Given the description of an element on the screen output the (x, y) to click on. 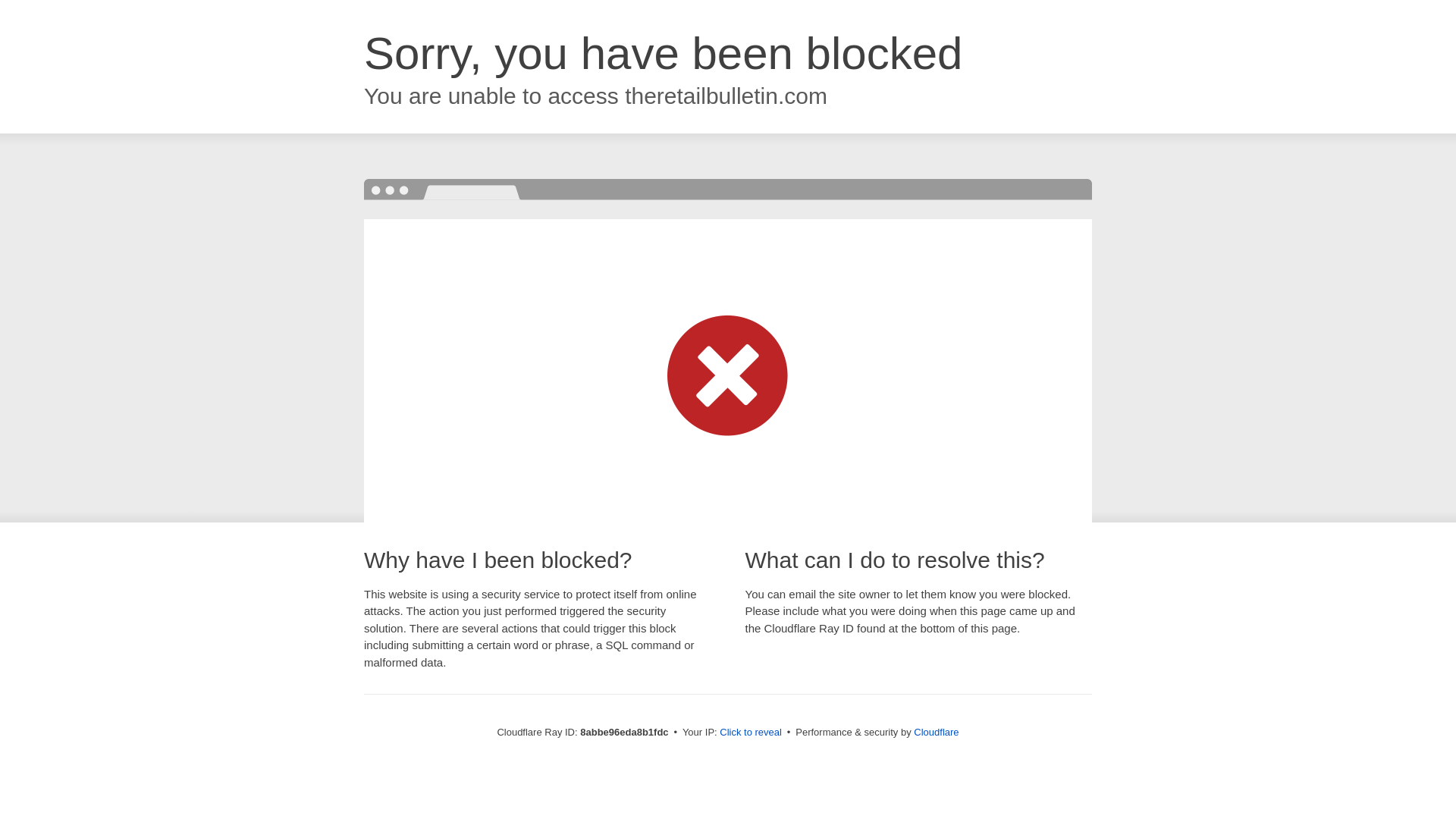
Cloudflare (936, 731)
Click to reveal (750, 732)
